Given the description of an element on the screen output the (x, y) to click on. 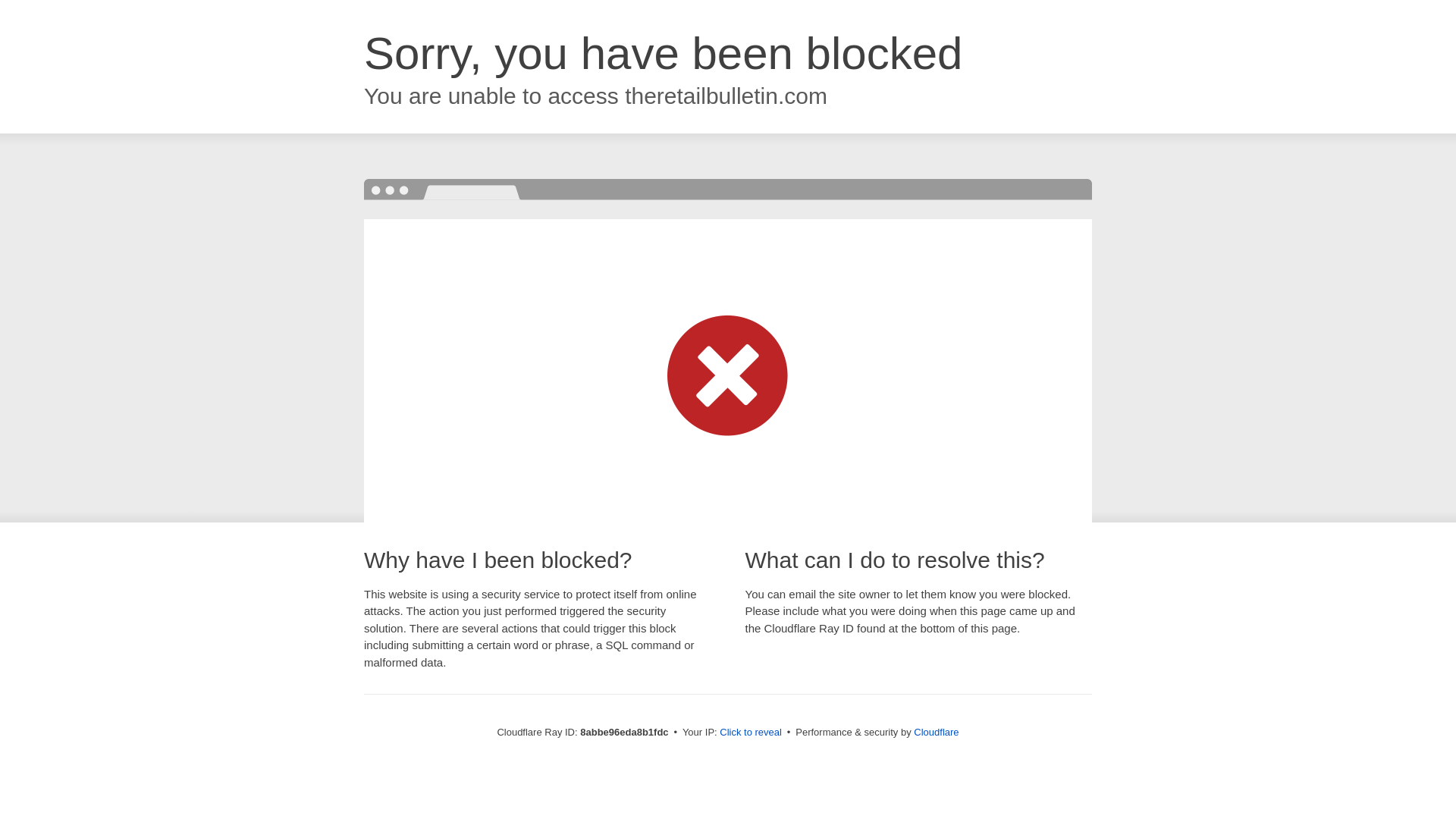
Cloudflare (936, 731)
Click to reveal (750, 732)
